Given the description of an element on the screen output the (x, y) to click on. 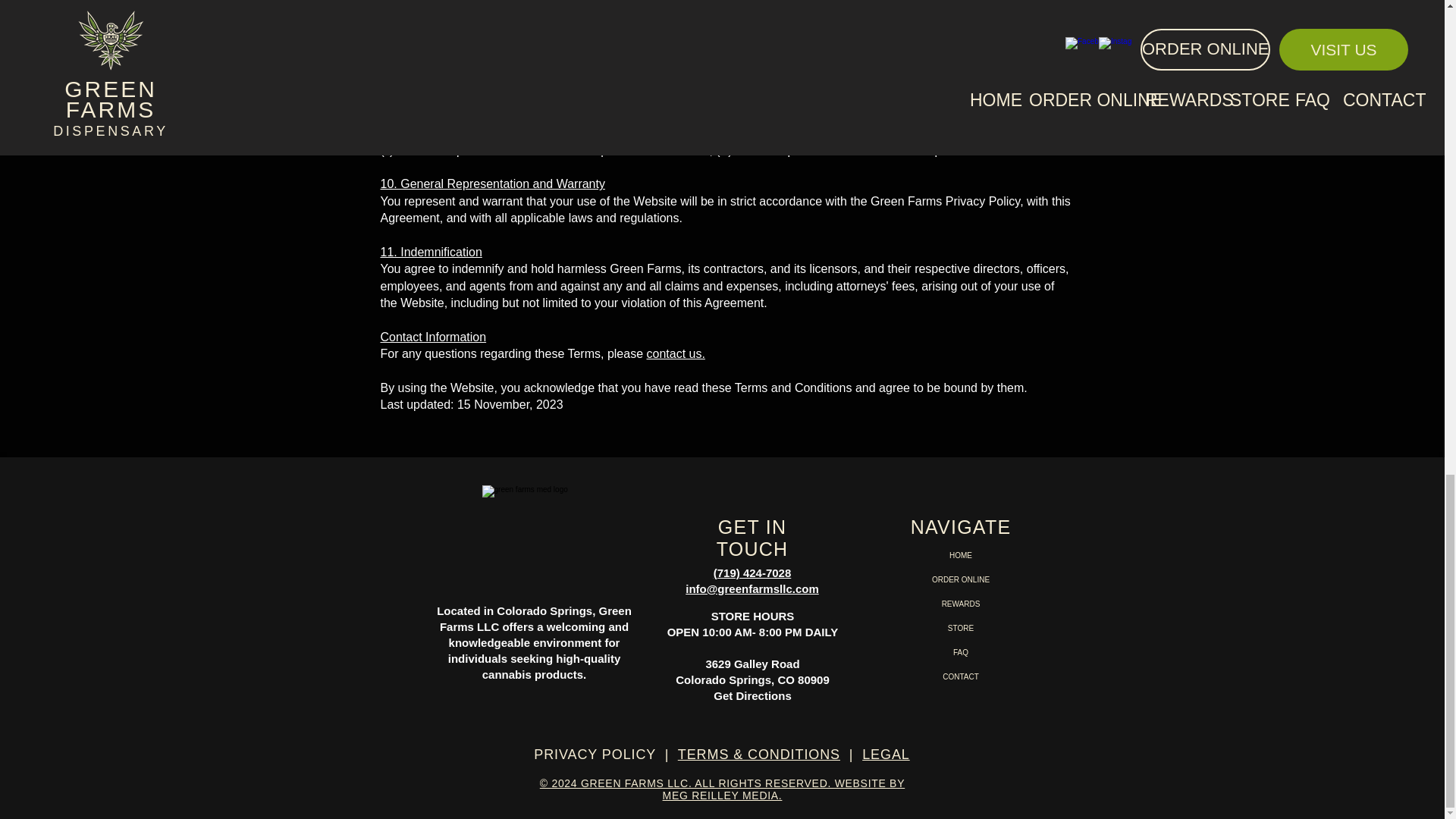
FAQ (960, 652)
STORE (960, 628)
ORDER ONLINE (960, 580)
Get Directions (752, 695)
REWARDS (960, 604)
contact us. (675, 353)
CONTACT (960, 677)
HOME (960, 555)
LEGAL (885, 754)
